Given the description of an element on the screen output the (x, y) to click on. 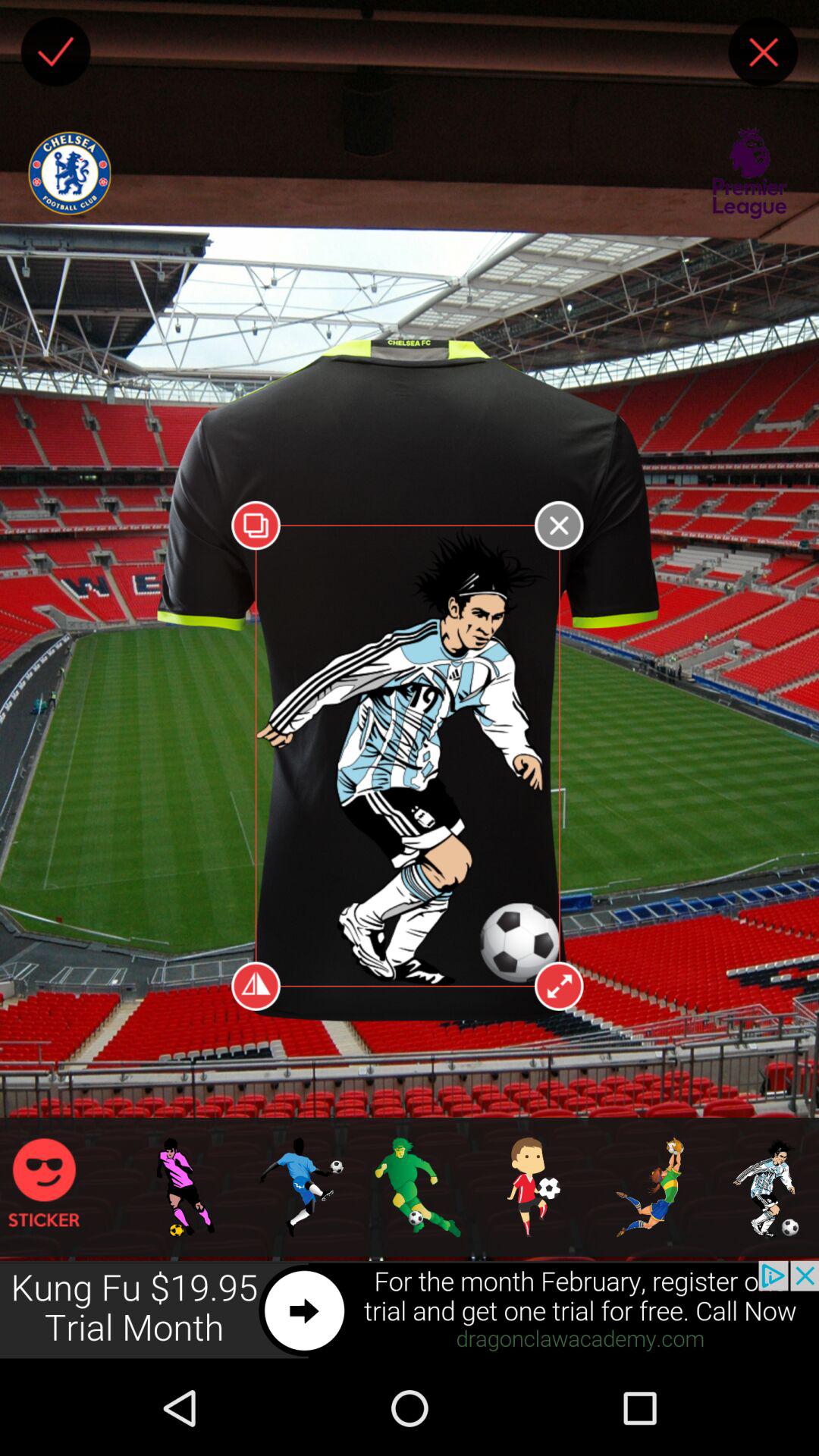
leave page (763, 51)
